Given the description of an element on the screen output the (x, y) to click on. 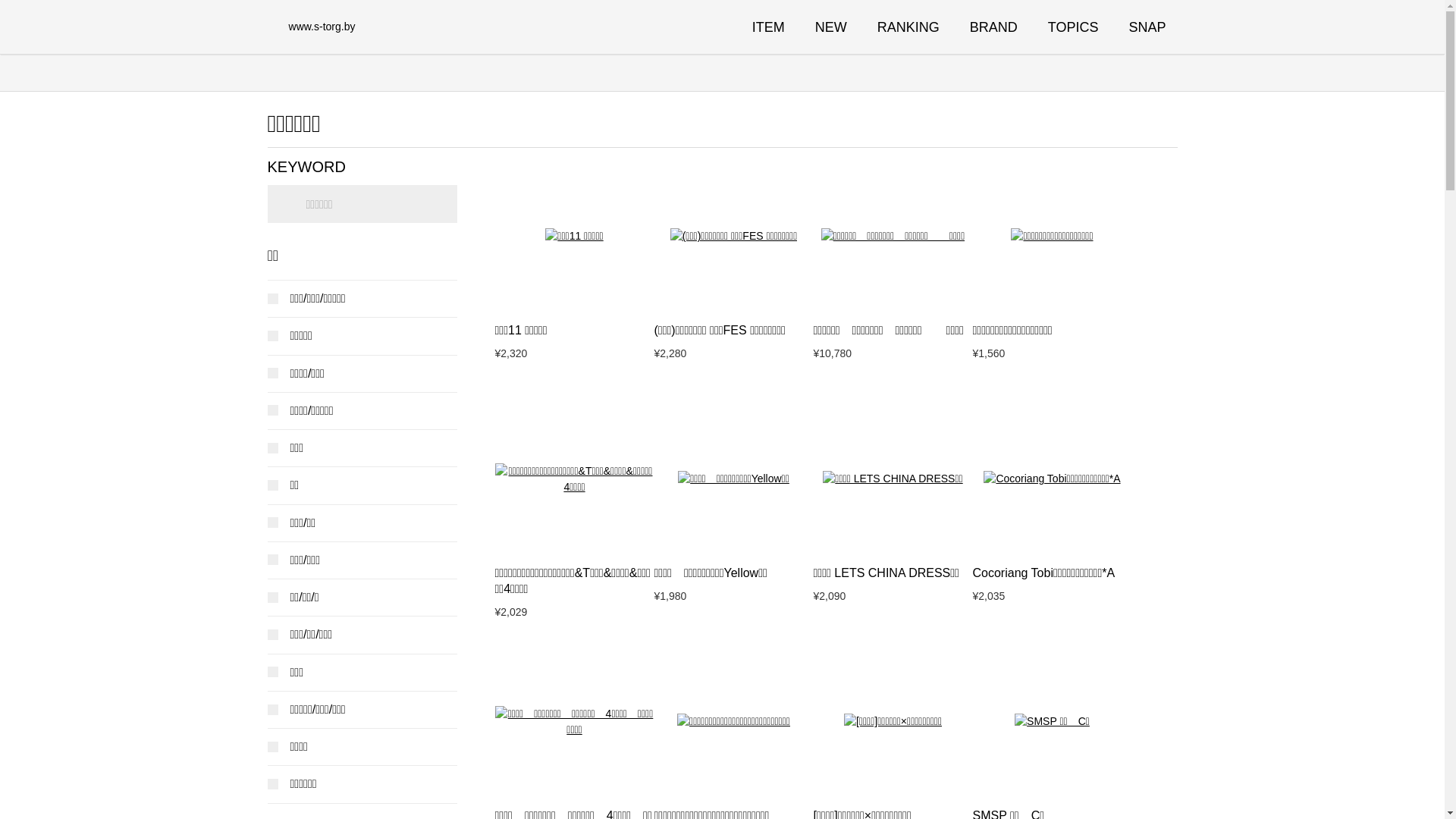
RANKING Element type: text (908, 26)
TOPICS Element type: text (1073, 26)
ITEM Element type: text (768, 26)
SNAP Element type: text (1146, 26)
BRAND Element type: text (993, 26)
NEW Element type: text (831, 26)
